Given the description of an element on the screen output the (x, y) to click on. 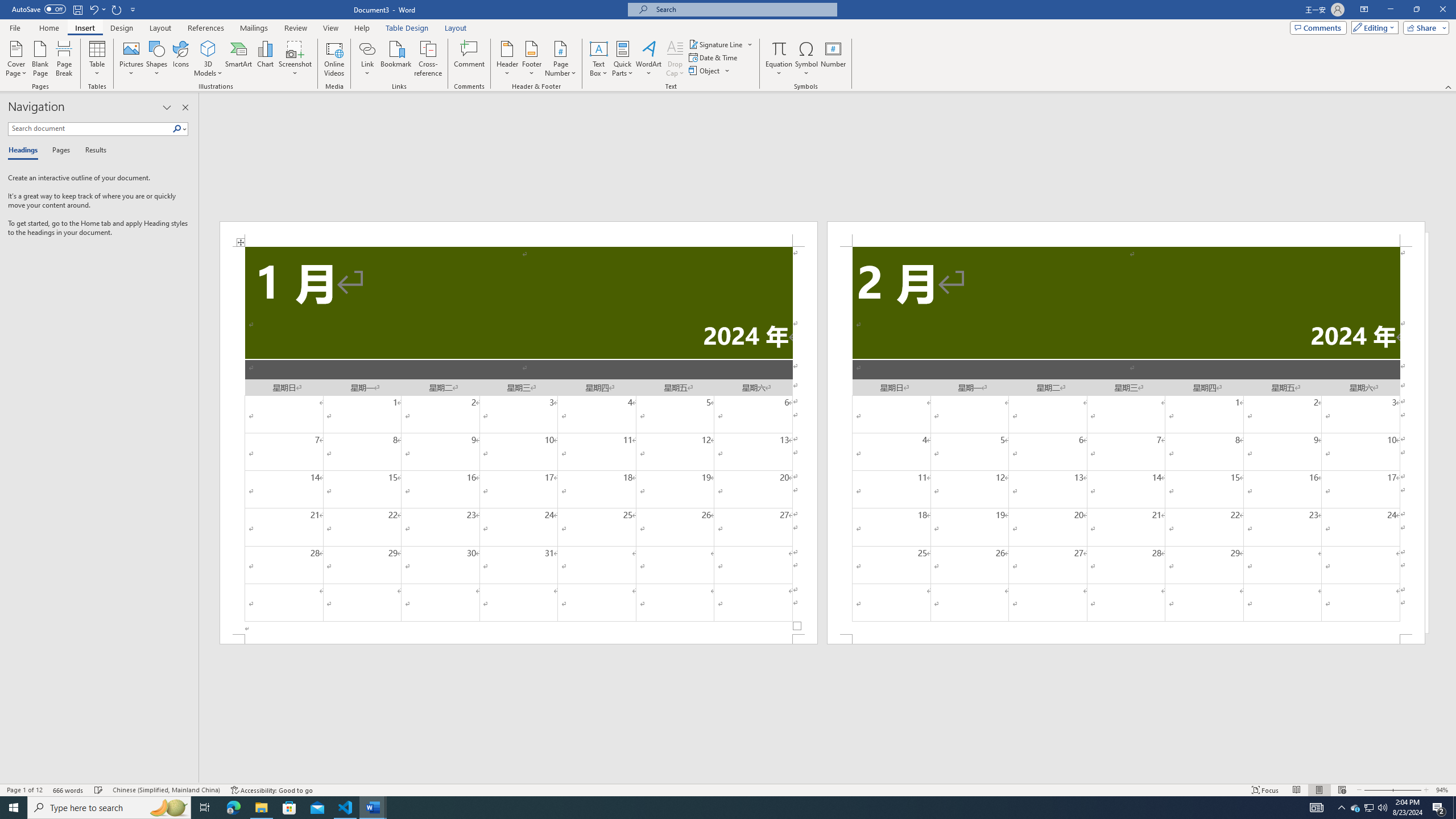
Undo Increase Indent (96, 9)
Headings (25, 150)
Footer -Section 1- (518, 638)
Search document (89, 128)
Link (367, 58)
Cross-reference... (428, 58)
3D Models (208, 48)
Number... (833, 58)
Cover Page (16, 58)
